Given the description of an element on the screen output the (x, y) to click on. 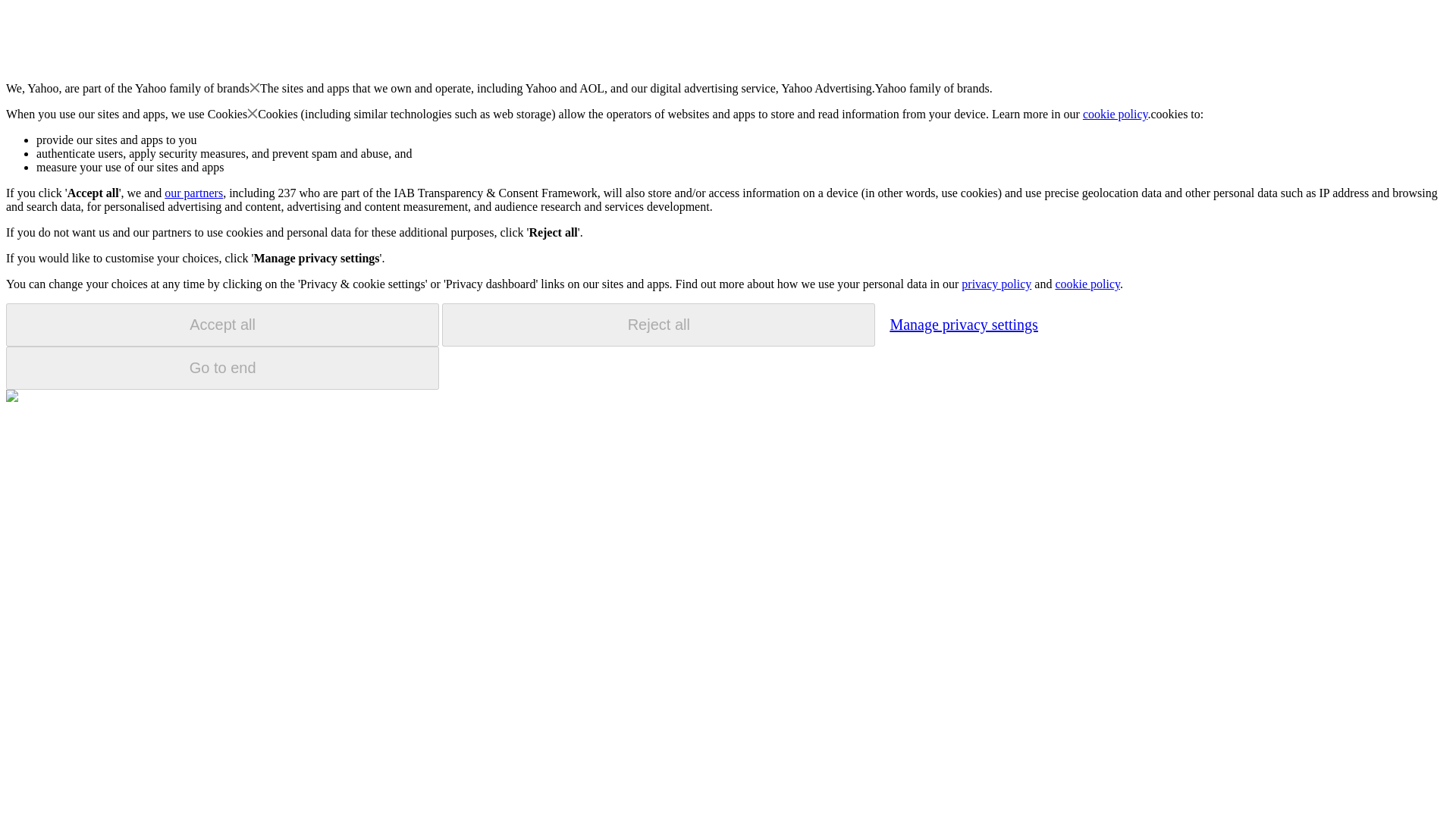
cookie policy (1115, 113)
cookie policy (1086, 283)
Go to end (222, 367)
privacy policy (995, 283)
Accept all (222, 324)
Manage privacy settings (963, 323)
Reject all (658, 324)
our partners (193, 192)
